Given the description of an element on the screen output the (x, y) to click on. 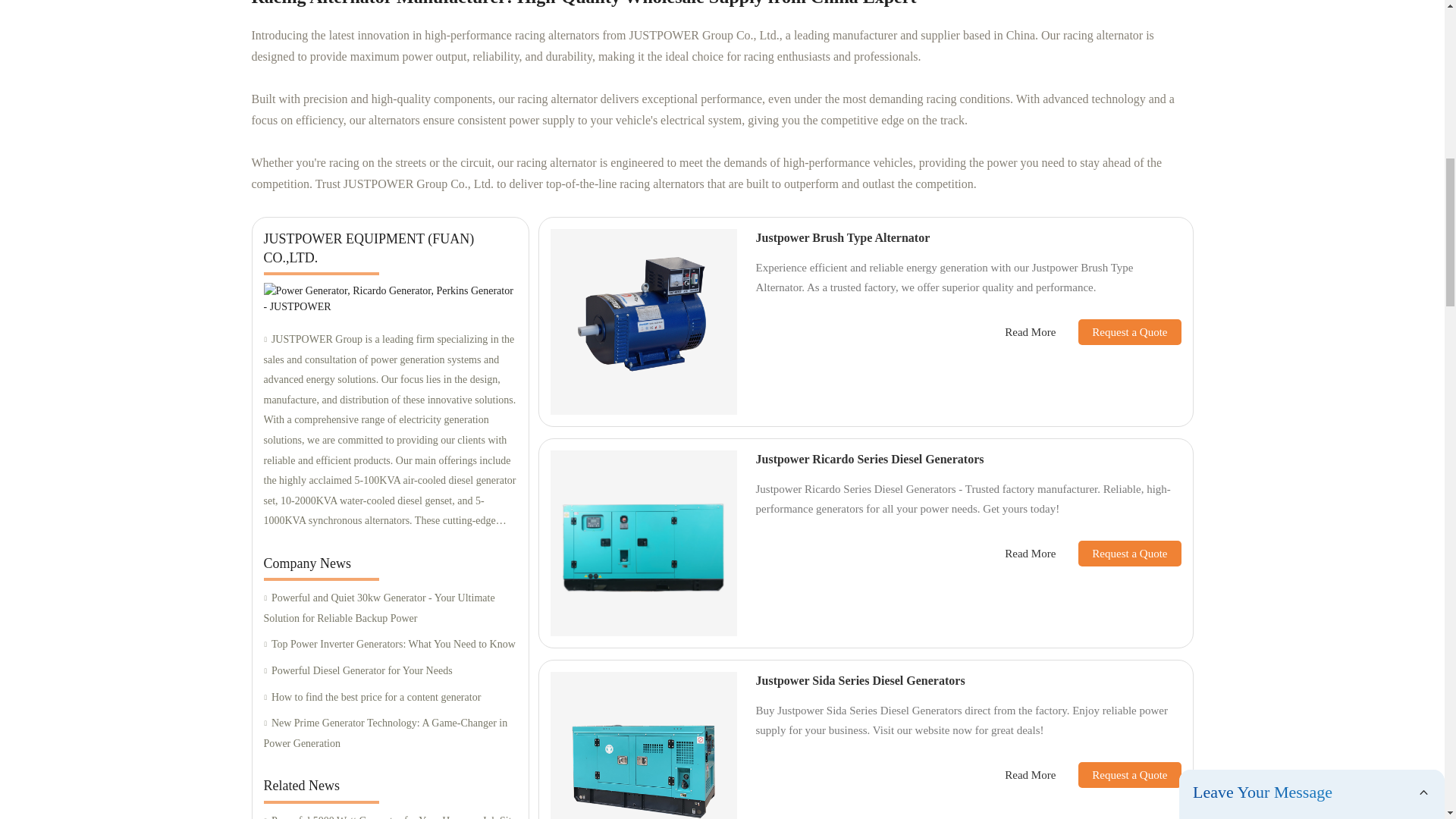
Justpower Ricardo Series Diesel Generators (869, 459)
Read More (1029, 774)
Powerful 5000 Watt Generator for Your Home or Job Site (389, 815)
Top Power Inverter Generators: What You Need to Know (389, 644)
Powerful Diesel Generator for Your Needs (389, 670)
Read More (1029, 332)
Justpower Brush Type Alternator (842, 237)
Request a Quote (1117, 553)
Request a Quote (1117, 331)
Request a Quote (1117, 774)
How to find the best price for a content generator (389, 697)
Justpower Sida Series Diesel Generators (859, 680)
